Given the description of an element on the screen output the (x, y) to click on. 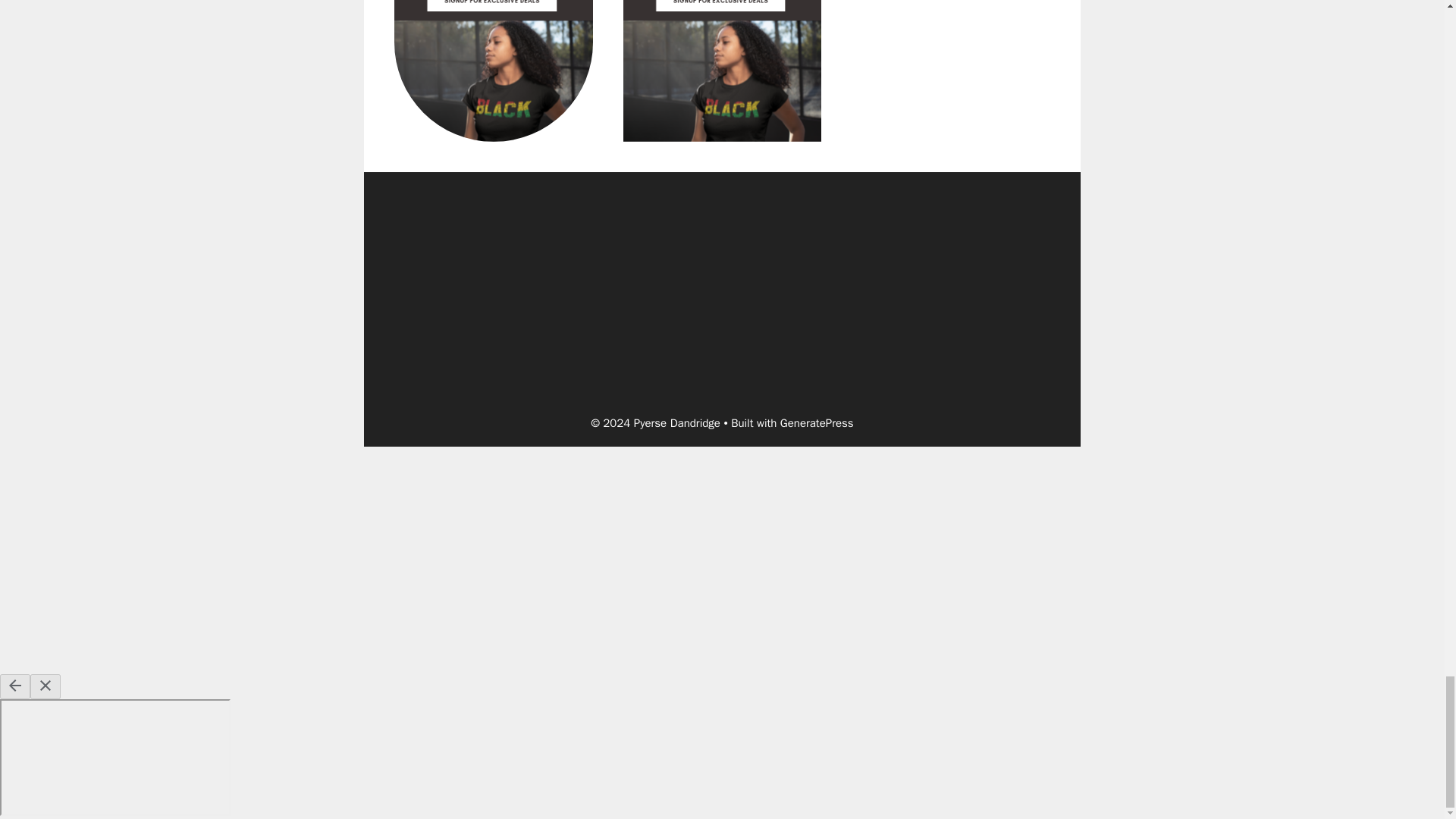
GeneratePress (816, 422)
